Given the description of an element on the screen output the (x, y) to click on. 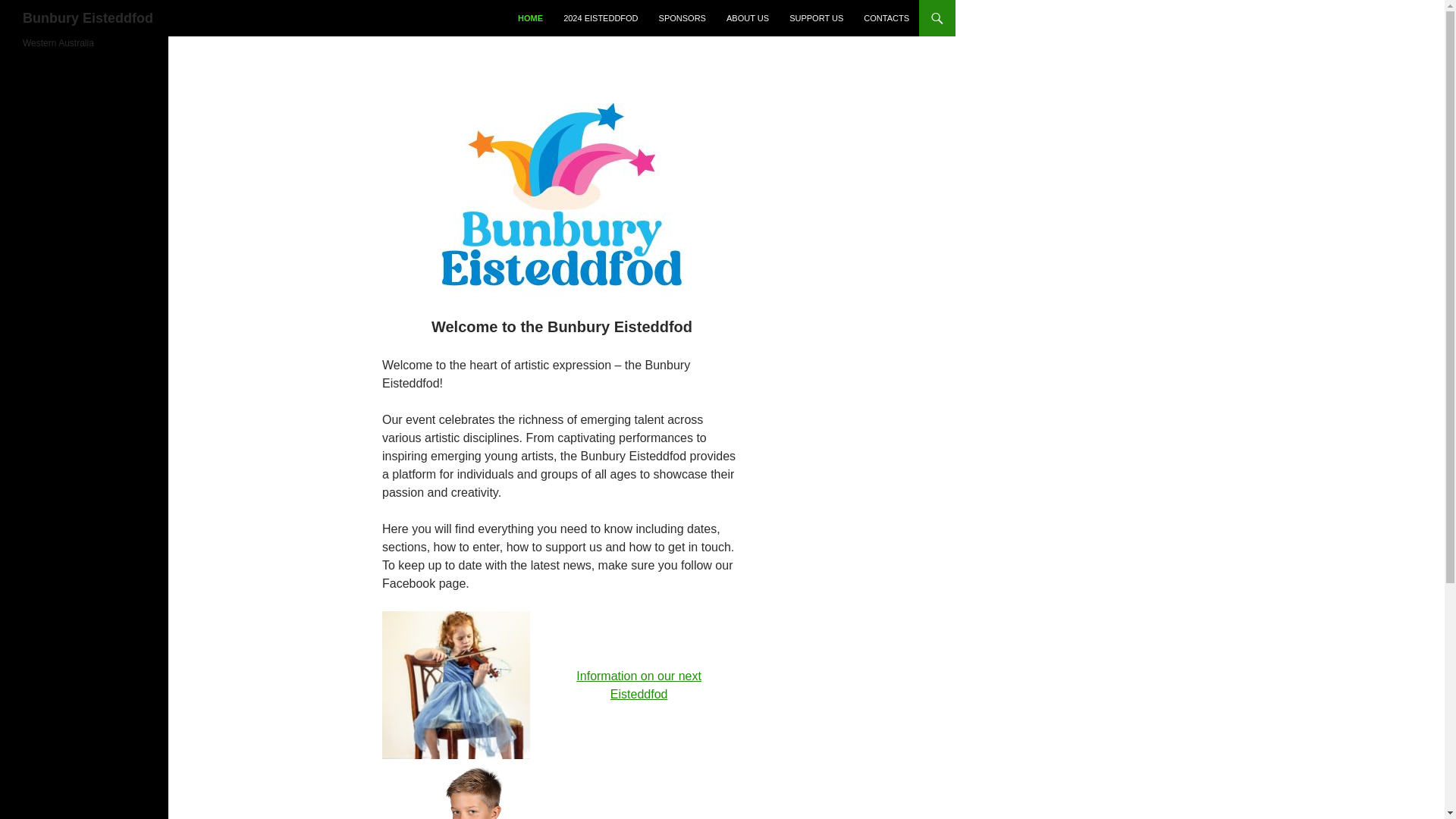
ABOUT US (747, 18)
SPONSORS (681, 18)
Information on our next Eisteddfod (638, 685)
SUPPORT US (815, 18)
HOME (529, 18)
Bunbury Eisteddfod (87, 18)
CONTACTS (886, 18)
2024 EISTEDDFOD (600, 18)
